Given the description of an element on the screen output the (x, y) to click on. 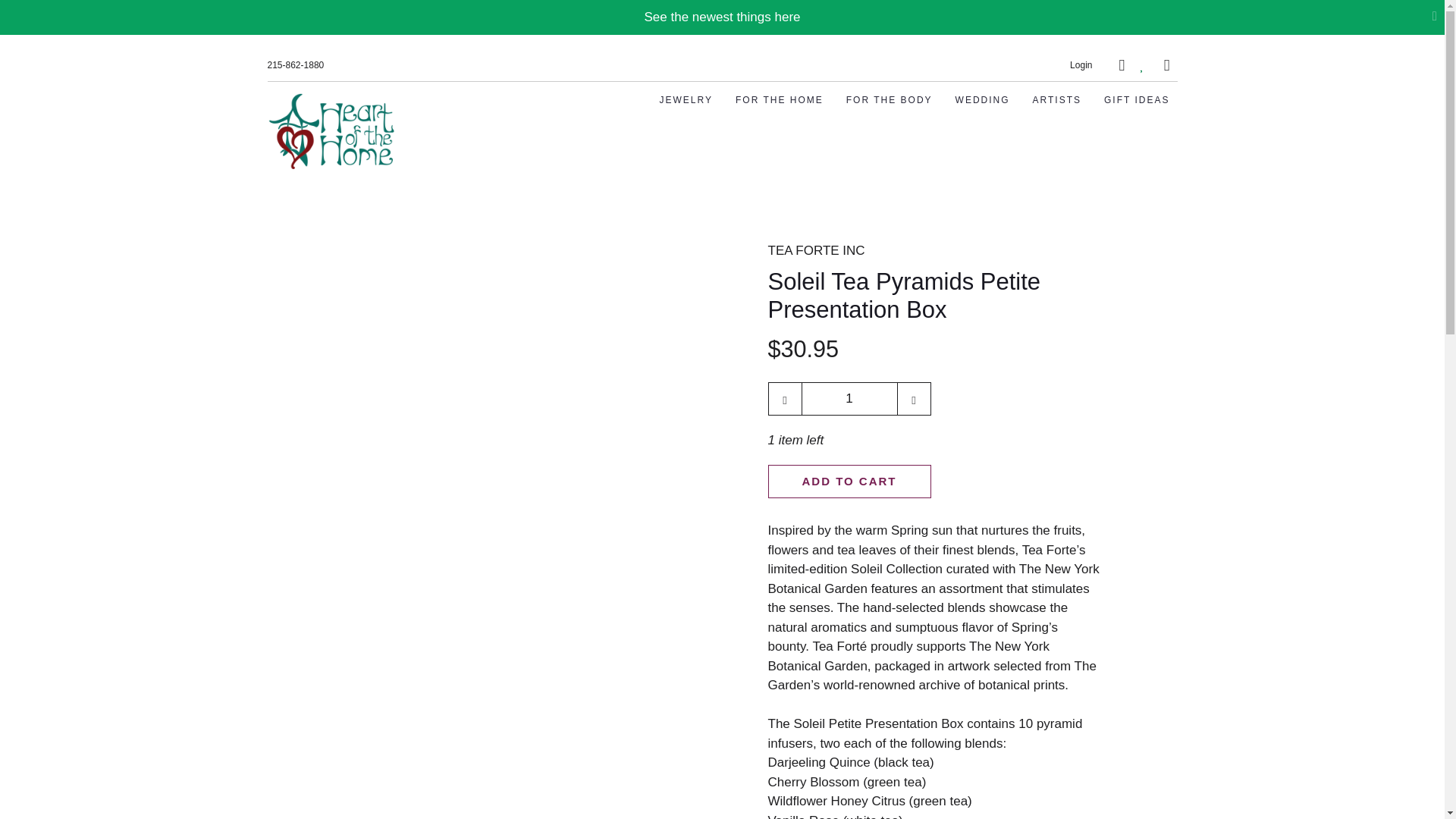
WEDDING (982, 99)
See the newest things here (721, 17)
FOR THE HOME (779, 99)
ARTISTS (1057, 99)
1 (848, 398)
My Account  (1081, 64)
FOR THE BODY (889, 99)
215-862-1880 (294, 65)
JEWELRY (686, 99)
TEA FORTE INC (815, 250)
